Given the description of an element on the screen output the (x, y) to click on. 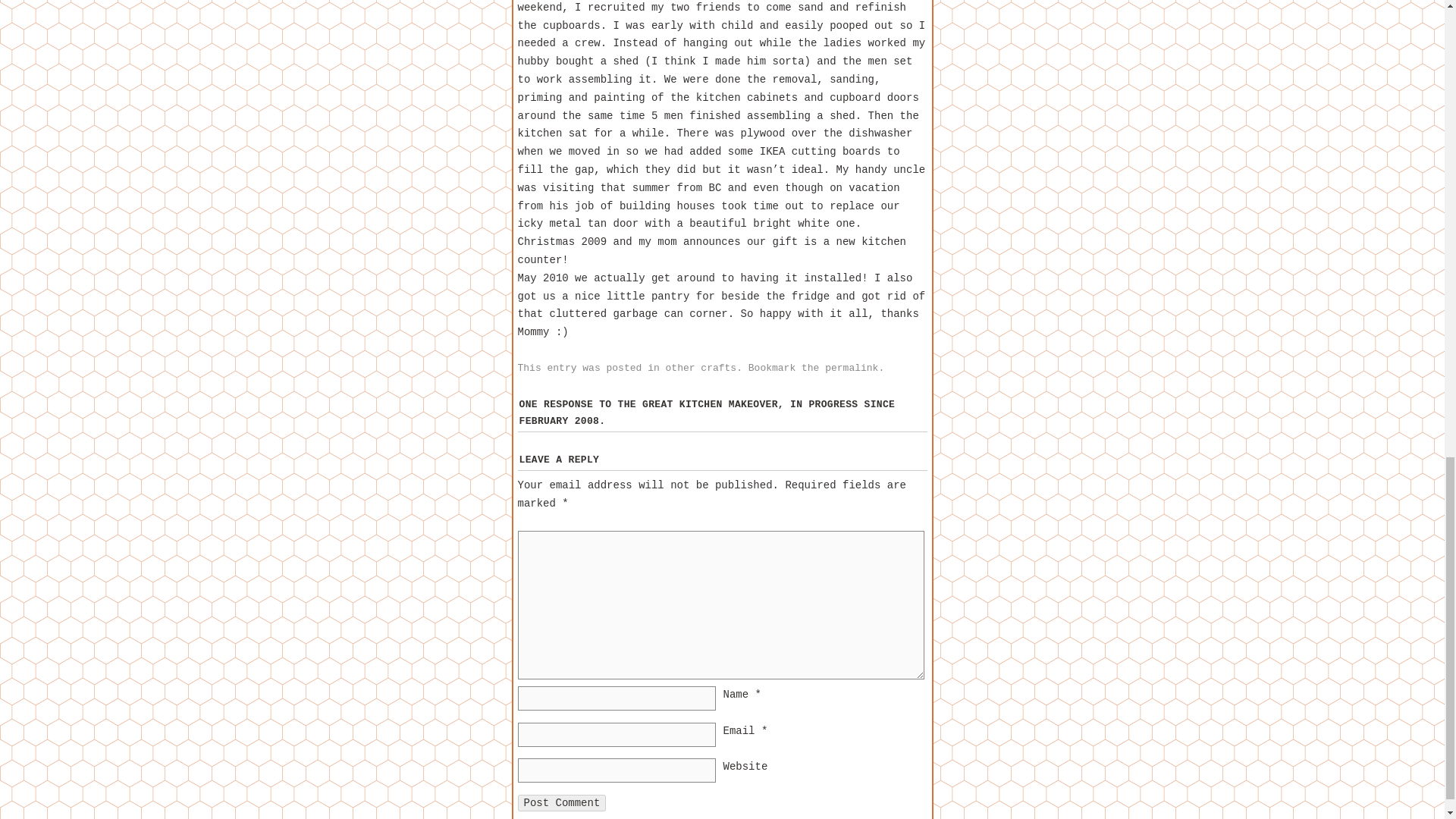
other crafts (700, 367)
Post Comment (560, 802)
permalink (851, 367)
Post Comment (560, 802)
